Given the description of an element on the screen output the (x, y) to click on. 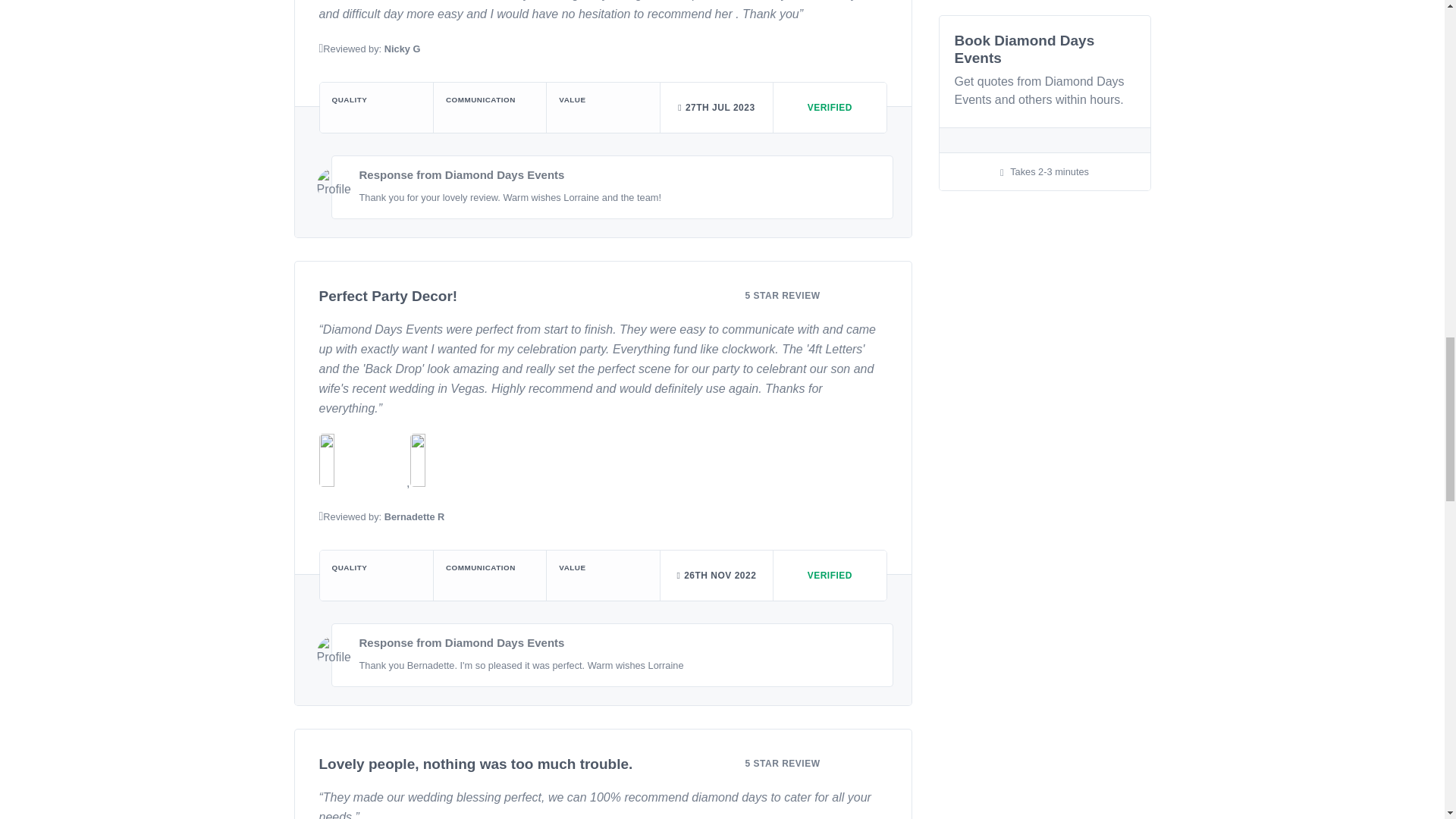
Profile Image (333, 653)
Profile Image (333, 185)
